Given the description of an element on the screen output the (x, y) to click on. 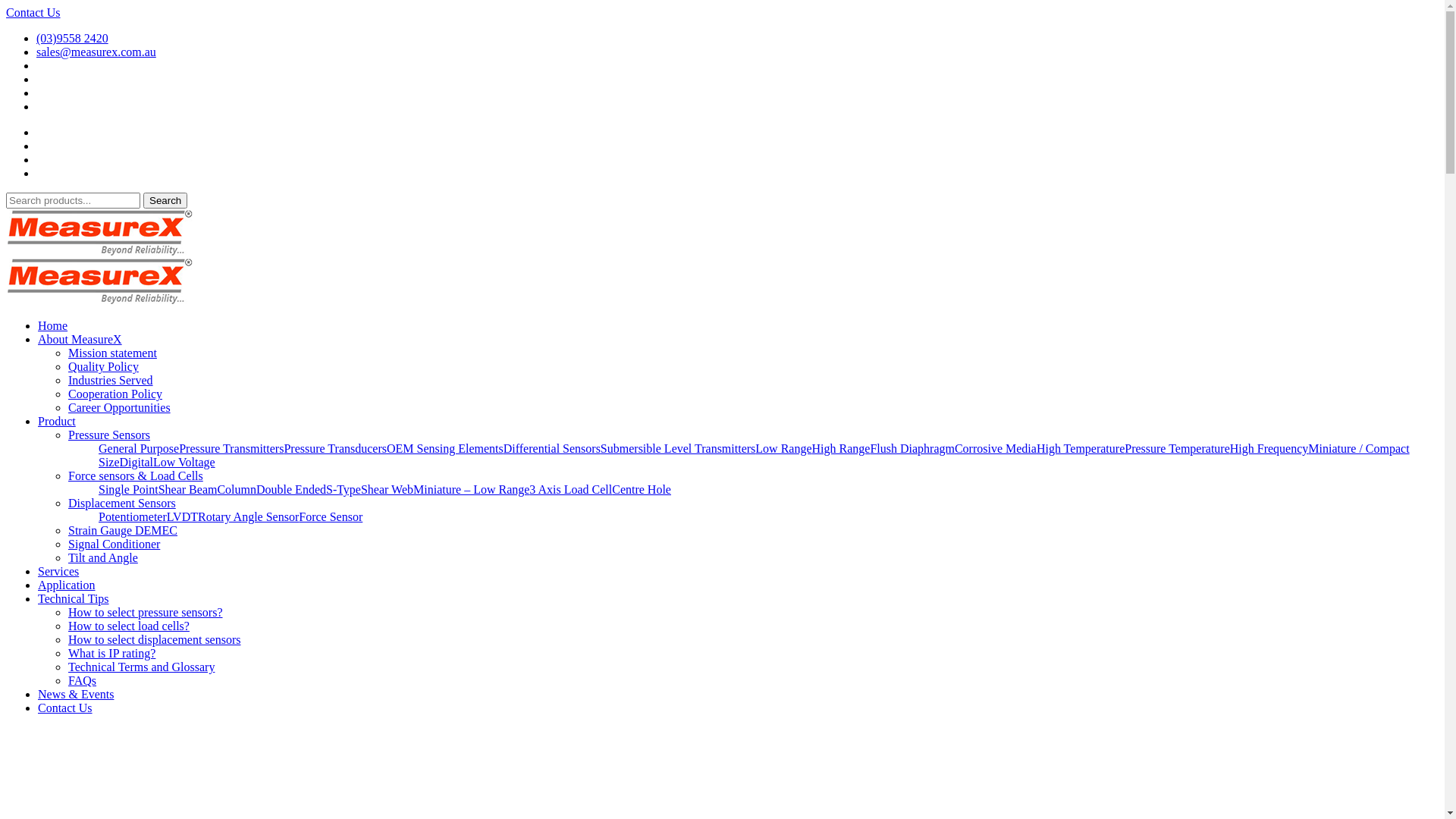
Low Range Element type: text (783, 448)
Centre Hole Element type: text (641, 489)
Single Point Element type: text (128, 489)
Contact Us Element type: text (33, 12)
sales@measurex.com.au Element type: text (96, 51)
Miniature / Compact Size Element type: text (753, 455)
Industries Served Element type: text (110, 379)
Home Element type: text (52, 325)
Technical Tips Element type: text (73, 598)
Career Opportunities Element type: text (119, 407)
High Temperature Element type: text (1080, 448)
Submersible Level Transmitters Element type: text (677, 448)
Pressure Temperature Element type: text (1177, 448)
S-Type Element type: text (343, 489)
How to select load cells? Element type: text (128, 625)
Digital Element type: text (136, 461)
Corrosive Media Element type: text (995, 448)
Product Element type: text (56, 420)
Mission statement Element type: text (112, 352)
Potentiometer Element type: text (132, 516)
Search Element type: text (165, 200)
Low Voltage Element type: text (184, 461)
Cooperation Policy Element type: text (115, 393)
Flush Diaphragm Element type: text (911, 448)
Pressure Sensors Element type: text (109, 434)
OEM Sensing Elements Element type: text (444, 448)
Pressure Transducers Element type: text (334, 448)
Strain Gauge DEMEC Element type: text (122, 530)
High Range Element type: text (840, 448)
Force sensors & Load Cells Element type: text (135, 475)
About MeasureX Element type: text (79, 338)
Services Element type: text (57, 570)
How to select pressure sensors? Element type: text (145, 611)
3 Axis Load Cell Element type: text (570, 489)
High Frequency Element type: text (1269, 448)
Shear Web Element type: text (386, 489)
Differential Sensors Element type: text (551, 448)
How to select displacement sensors Element type: text (154, 639)
Contact Us Element type: text (64, 707)
Shear Beam Element type: text (187, 489)
(03)9558 2420 Element type: text (72, 37)
LVDT Element type: text (181, 516)
General Purpose Element type: text (138, 448)
News & Events Element type: text (75, 693)
What is IP rating? Element type: text (111, 652)
Rotary Angle Sensor Element type: text (247, 516)
Column Element type: text (236, 489)
Displacement Sensors Element type: text (121, 502)
Application Element type: text (66, 584)
FAQs Element type: text (82, 680)
Force Sensor Element type: text (330, 516)
Double Ended Element type: text (291, 489)
Quality Policy Element type: text (103, 366)
Technical Terms and Glossary Element type: text (141, 666)
Pressure Transmitters Element type: text (230, 448)
Signal Conditioner Element type: text (114, 543)
Tilt and Angle Element type: text (103, 557)
